Given the description of an element on the screen output the (x, y) to click on. 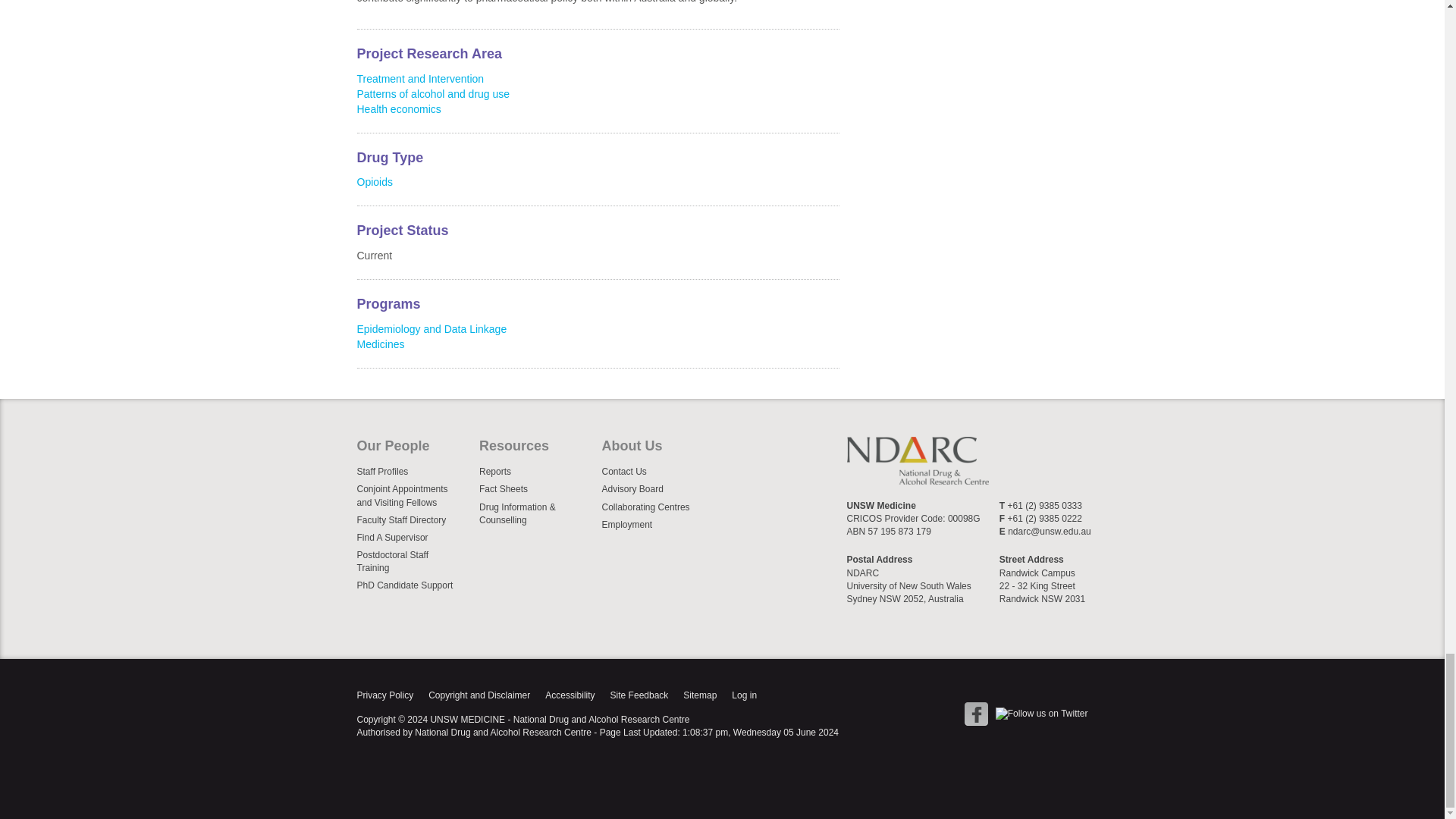
Our People (413, 450)
NDARC Staff Profiles (413, 471)
Conjoint Appointments and Visiting Fellows (413, 495)
